Given the description of an element on the screen output the (x, y) to click on. 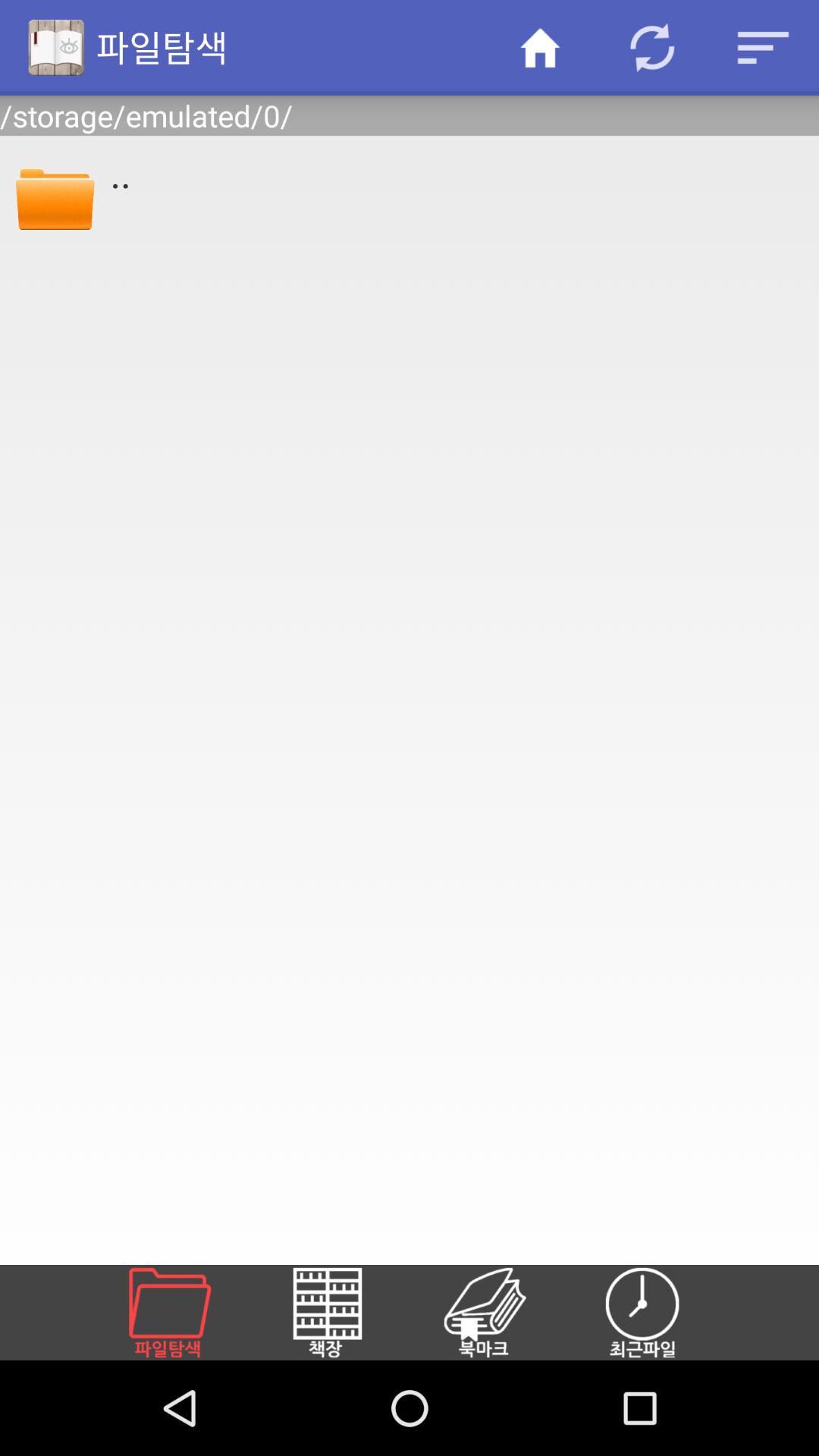
open (187, 1312)
